Given the description of an element on the screen output the (x, y) to click on. 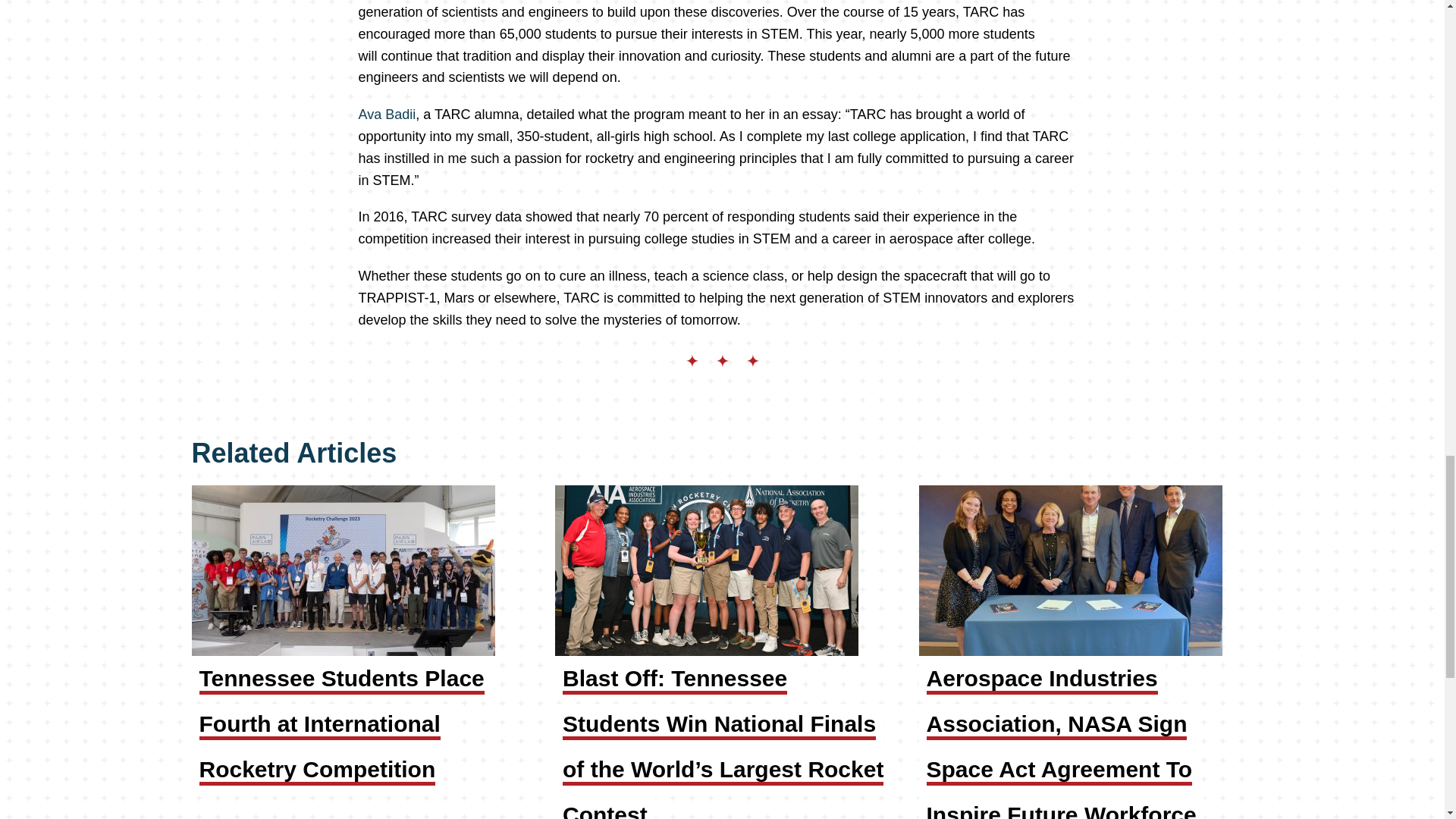
Ava Badii (386, 114)
